Given the description of an element on the screen output the (x, y) to click on. 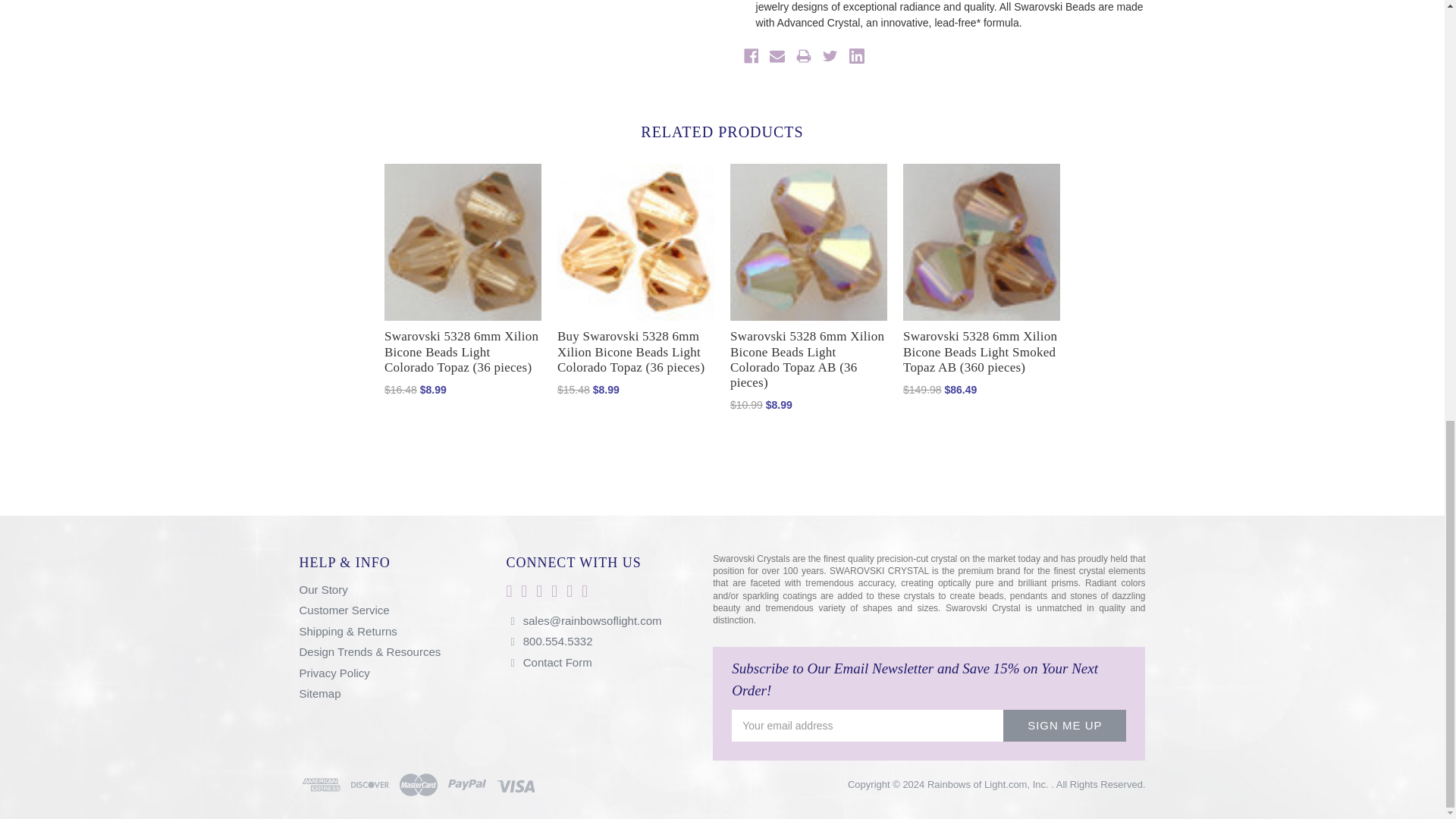
Swarovski 5328 6mm Xilion Bicone Beads Light Colorado Topaz (462, 242)
Sign Me Up (1064, 726)
Swarovski 5328 6mm Xilion Bicone Beads Light Colorado Topaz (635, 242)
Swarovski 5328 6mm Xilion Bicone Beads Light Smoked Topaz AB (980, 242)
